Given the description of an element on the screen output the (x, y) to click on. 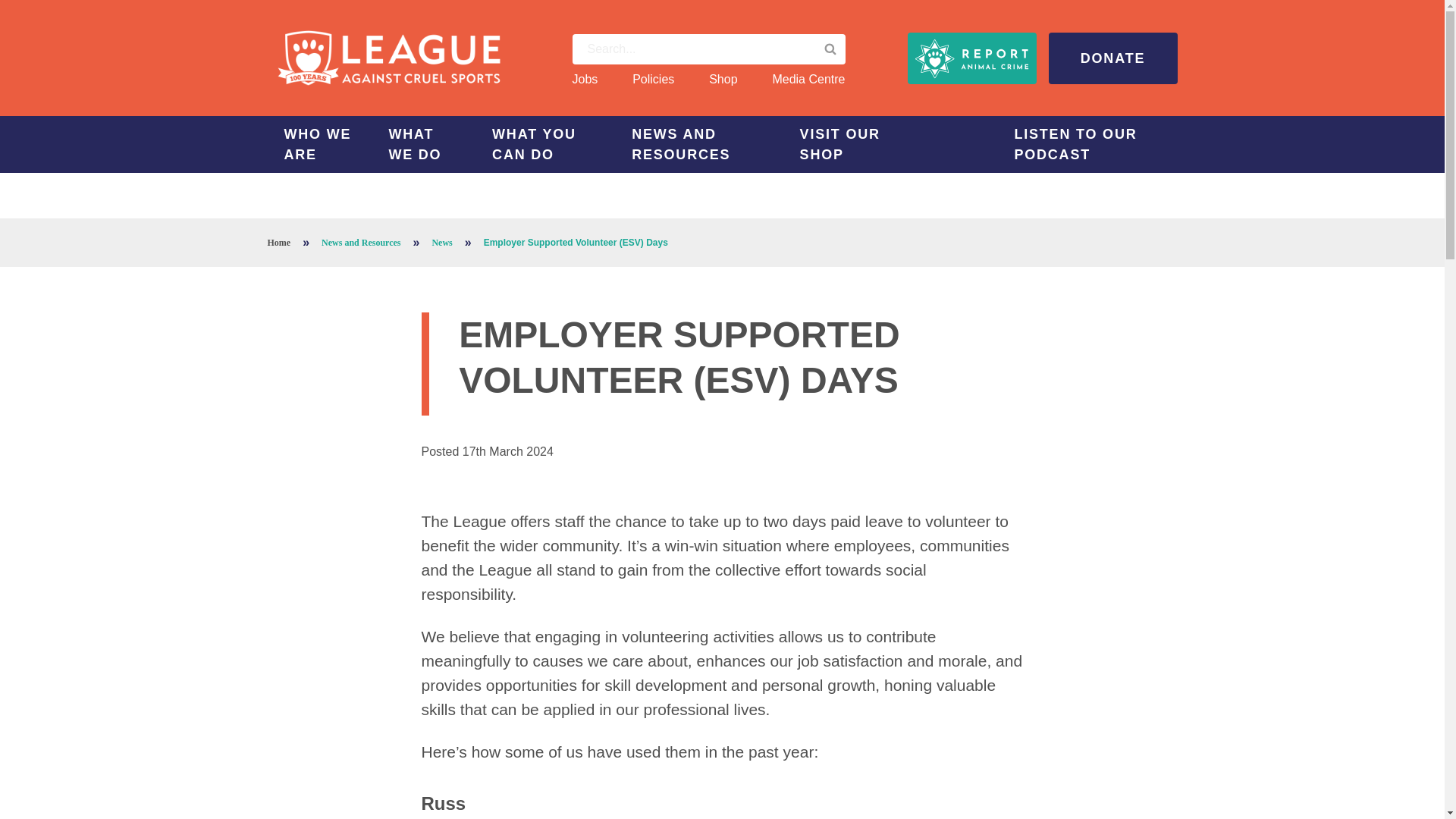
Submit (828, 49)
Media Centre (807, 79)
Shop (722, 79)
Jobs (584, 79)
Donate (1112, 58)
Jobs (584, 79)
Policies (652, 79)
Policies (652, 79)
Report an Animal Crime (971, 58)
Home (387, 58)
